Given the description of an element on the screen output the (x, y) to click on. 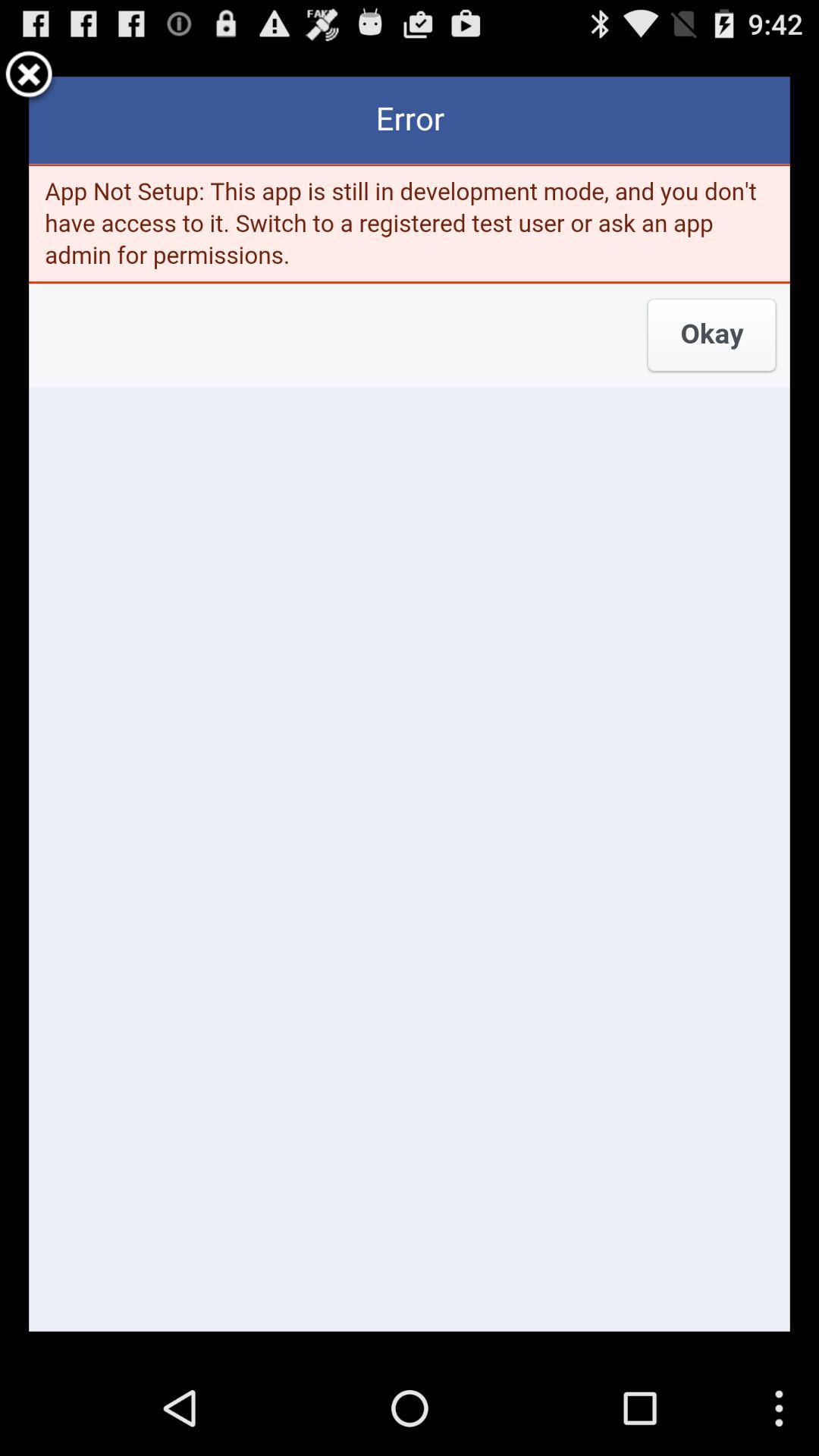
close the error screen (29, 76)
